Given the description of an element on the screen output the (x, y) to click on. 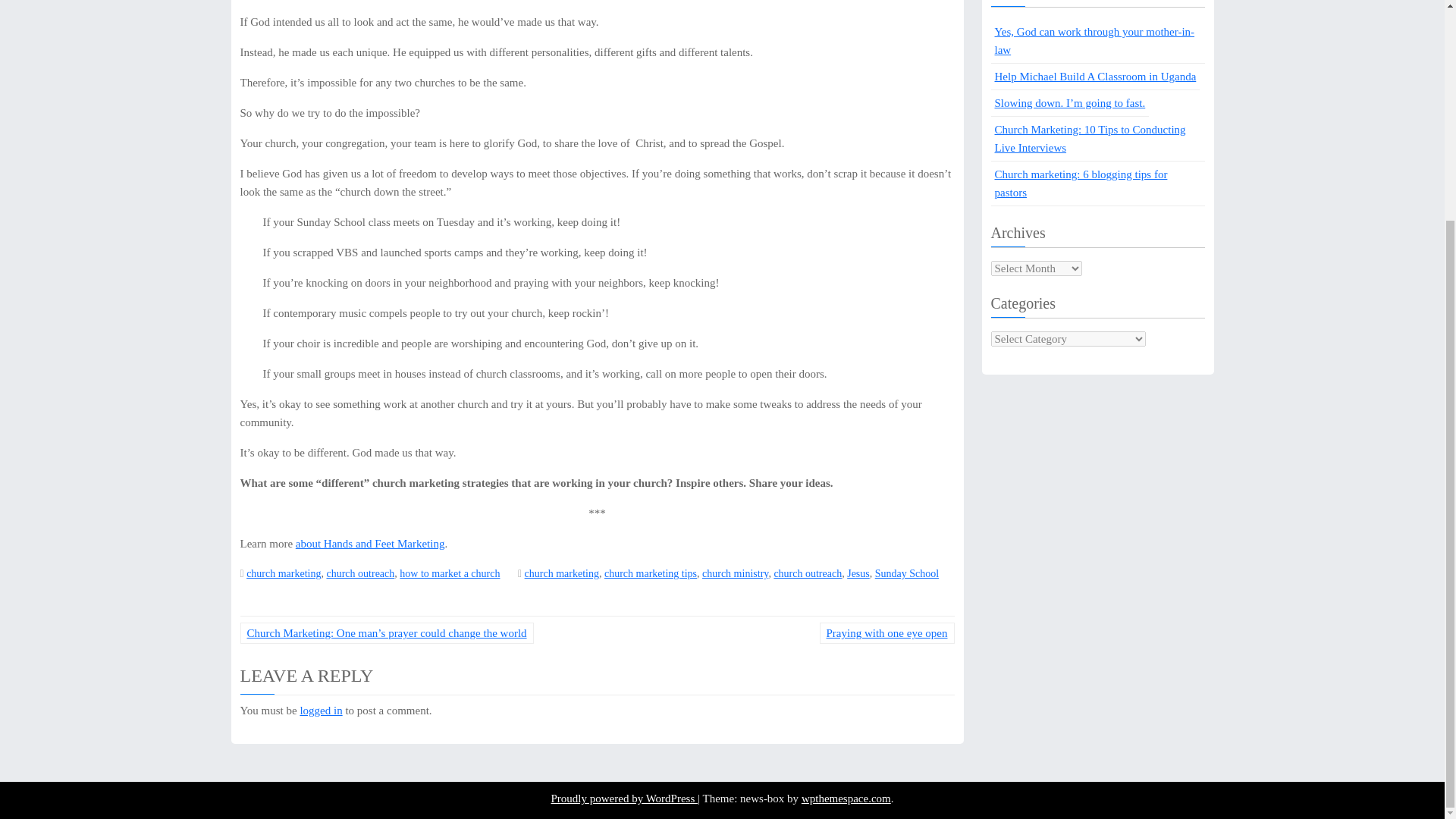
church ministry (734, 573)
Proudly powered by WordPress (623, 798)
Jesus (858, 573)
Church marketing: 6 blogging tips for pastors (1097, 183)
Yes, God can work through your mother-in-law (1097, 40)
church marketing tips (650, 573)
about Hands and Feet Marketing (370, 543)
church outreach (360, 573)
Help Michael Build A Classroom in Uganda (1094, 76)
About Hands and Feet Church Marketing (370, 543)
